Given the description of an element on the screen output the (x, y) to click on. 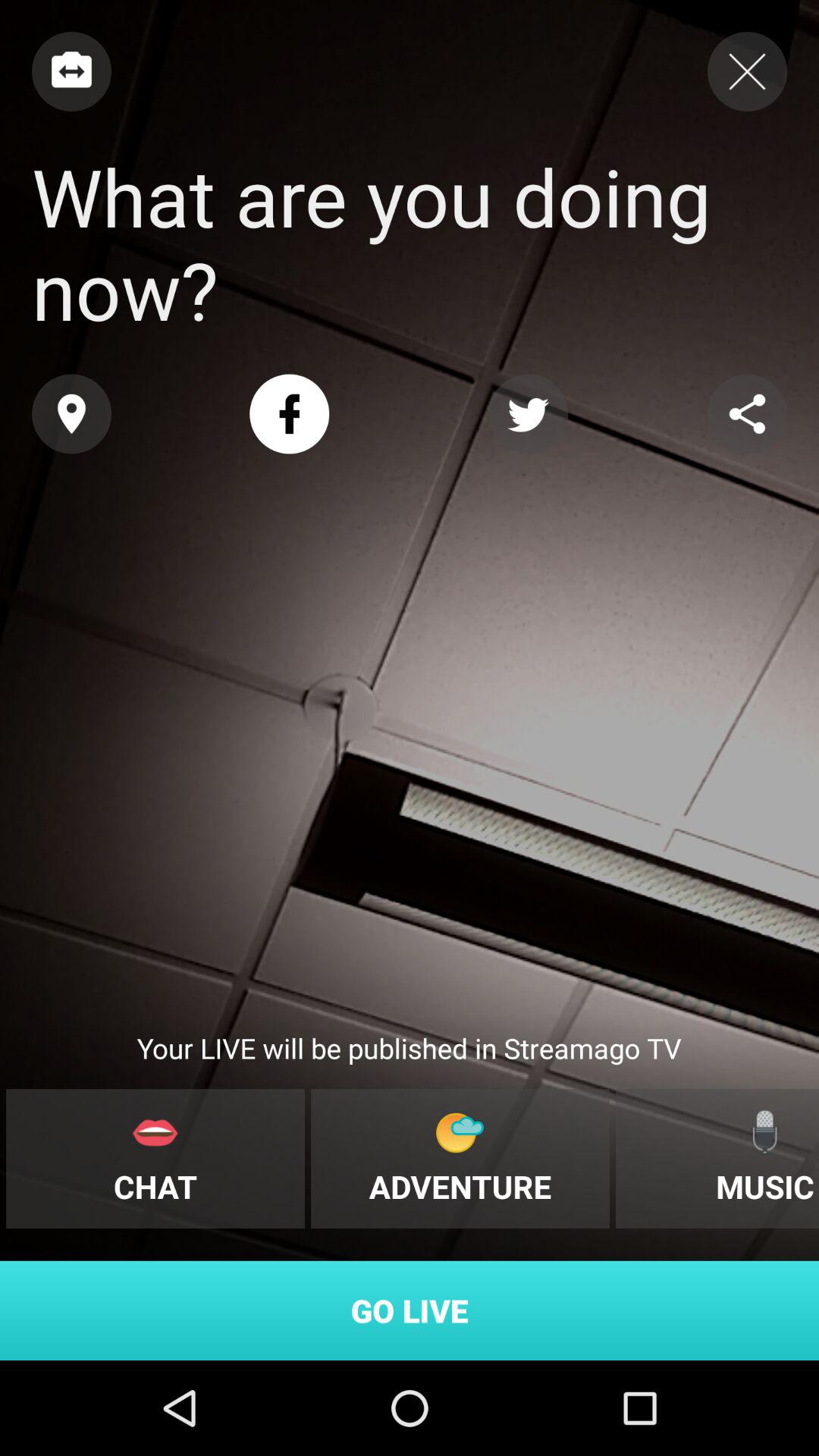
share the link (747, 413)
